Given the description of an element on the screen output the (x, y) to click on. 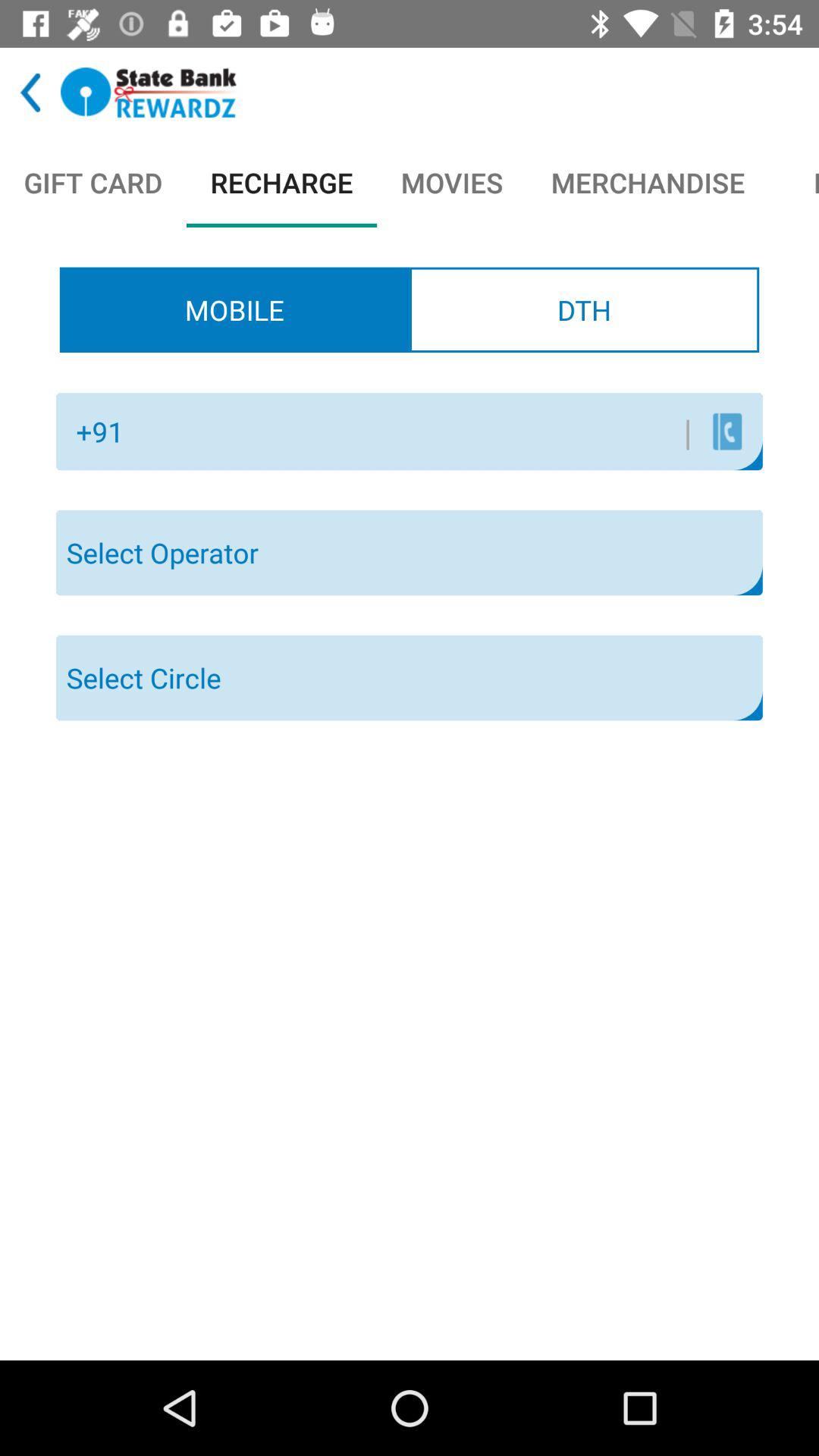
choose the radio button to the left of the dth item (234, 309)
